Given the description of an element on the screen output the (x, y) to click on. 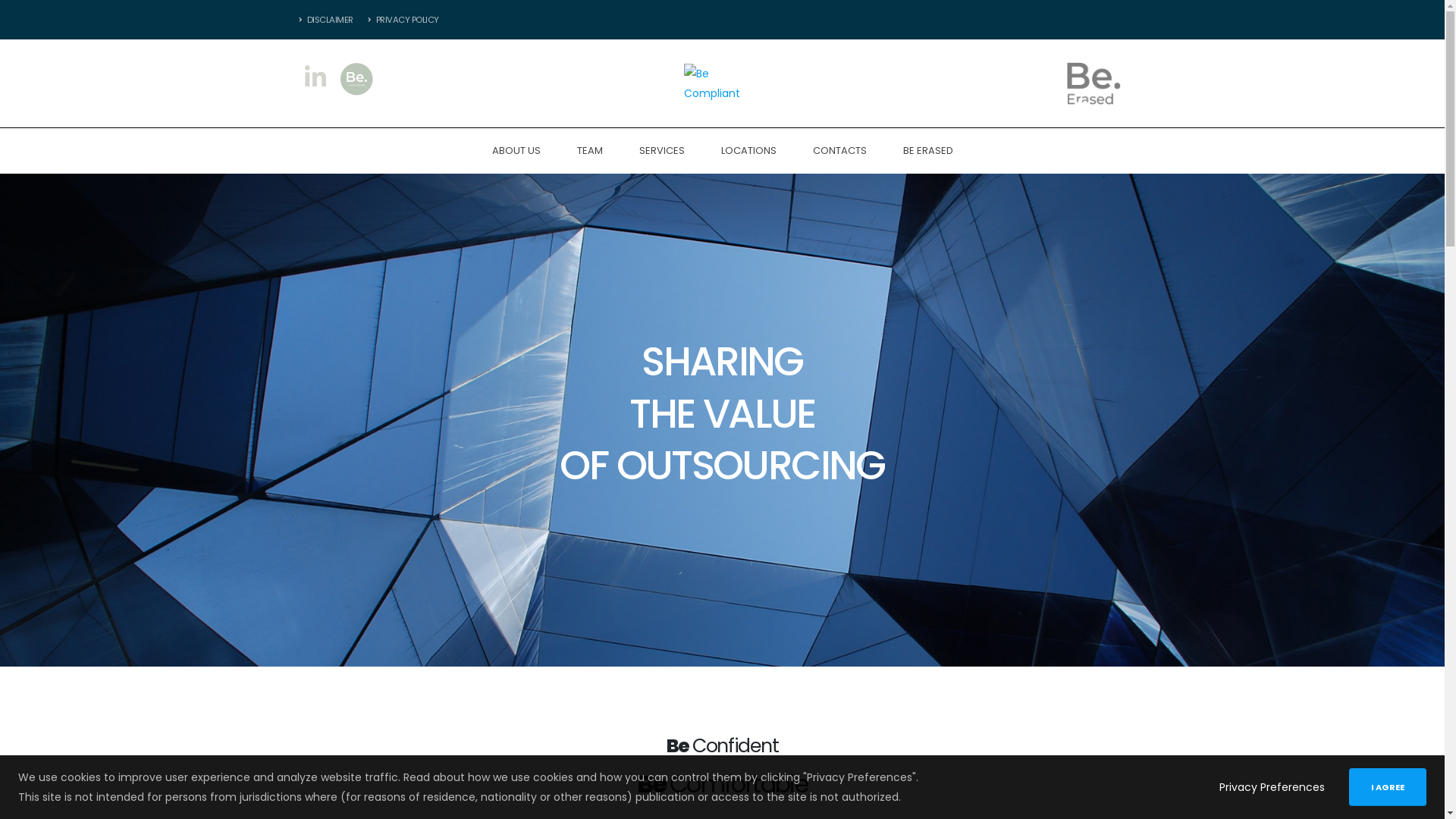
DISCLAIMER Element type: text (329, 19)
LOCATIONS Element type: text (747, 150)
BE ERASED Element type: text (927, 150)
Linkedin Element type: hover (315, 78)
Privacy Preferences Element type: text (1271, 787)
SERVICES Element type: text (661, 150)
PRIVACY POLICY Element type: text (399, 19)
ABOUT US Element type: text (515, 150)
I AGREE Element type: text (1387, 787)
CONTACTS Element type: text (839, 150)
TEAM Element type: text (589, 150)
